Given the description of an element on the screen output the (x, y) to click on. 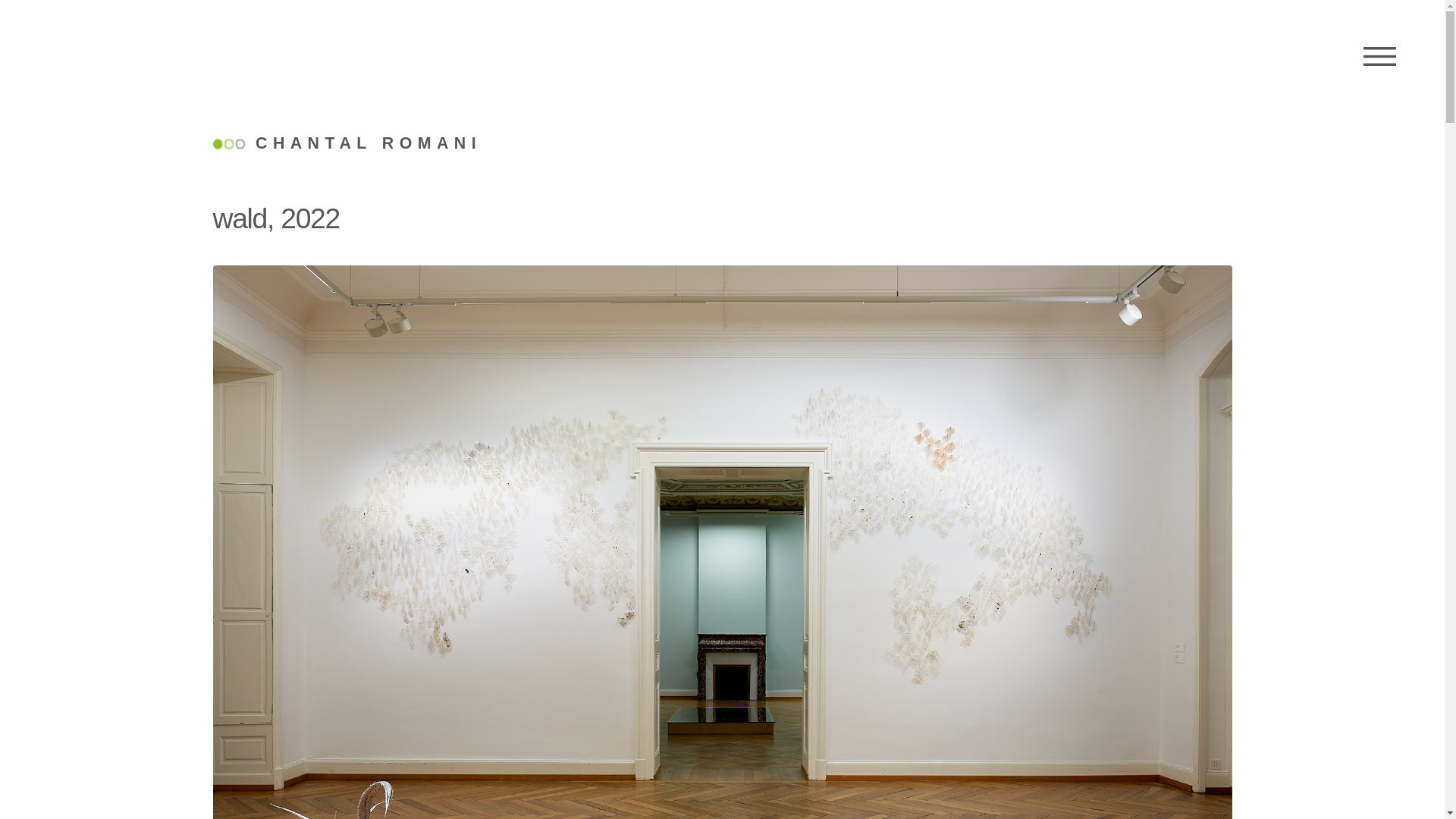
CHANTAL ROMANI Element type: text (346, 143)
MENU Element type: text (1379, 56)
